Given the description of an element on the screen output the (x, y) to click on. 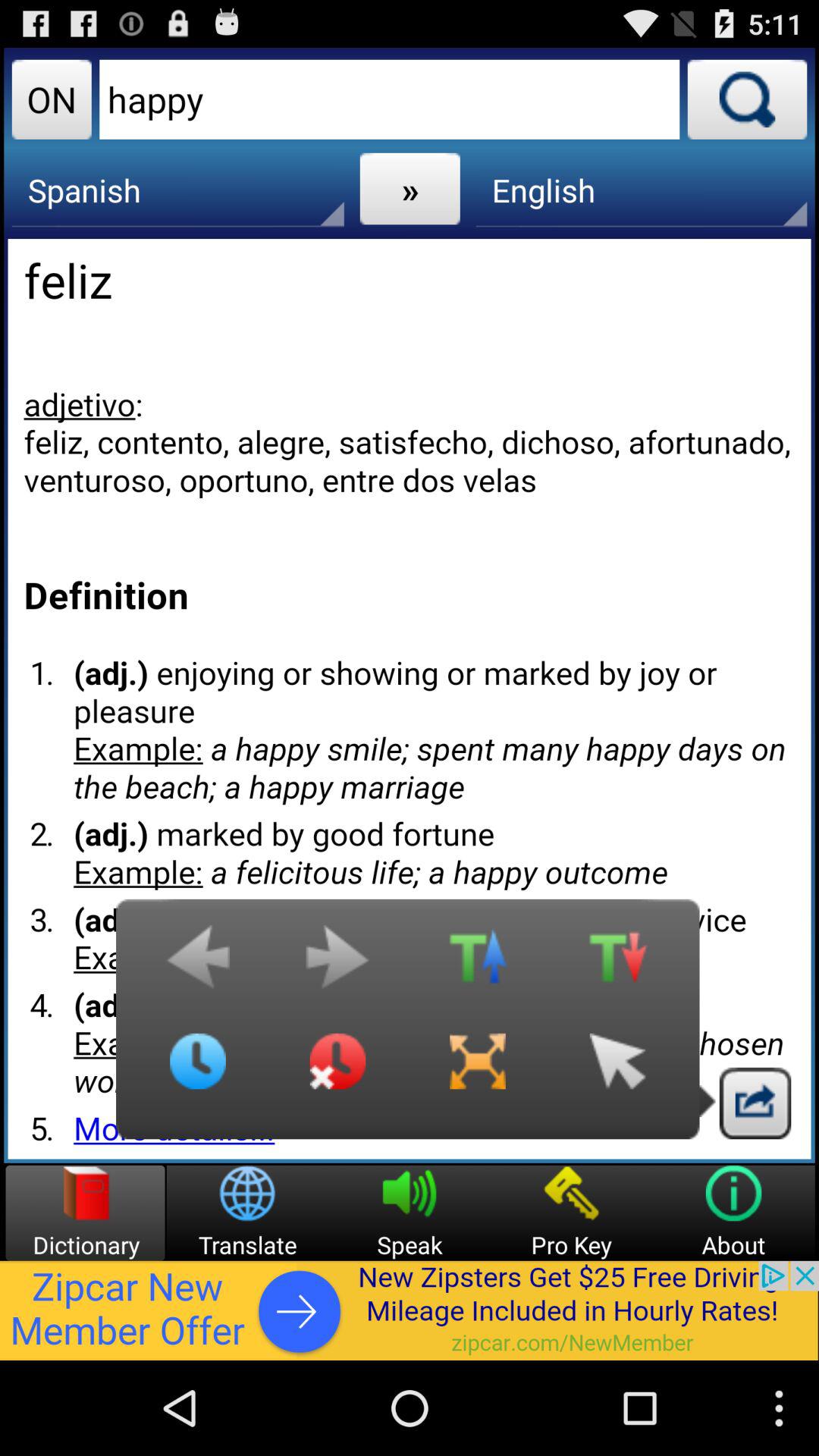
go to close (337, 1073)
